Given the description of an element on the screen output the (x, y) to click on. 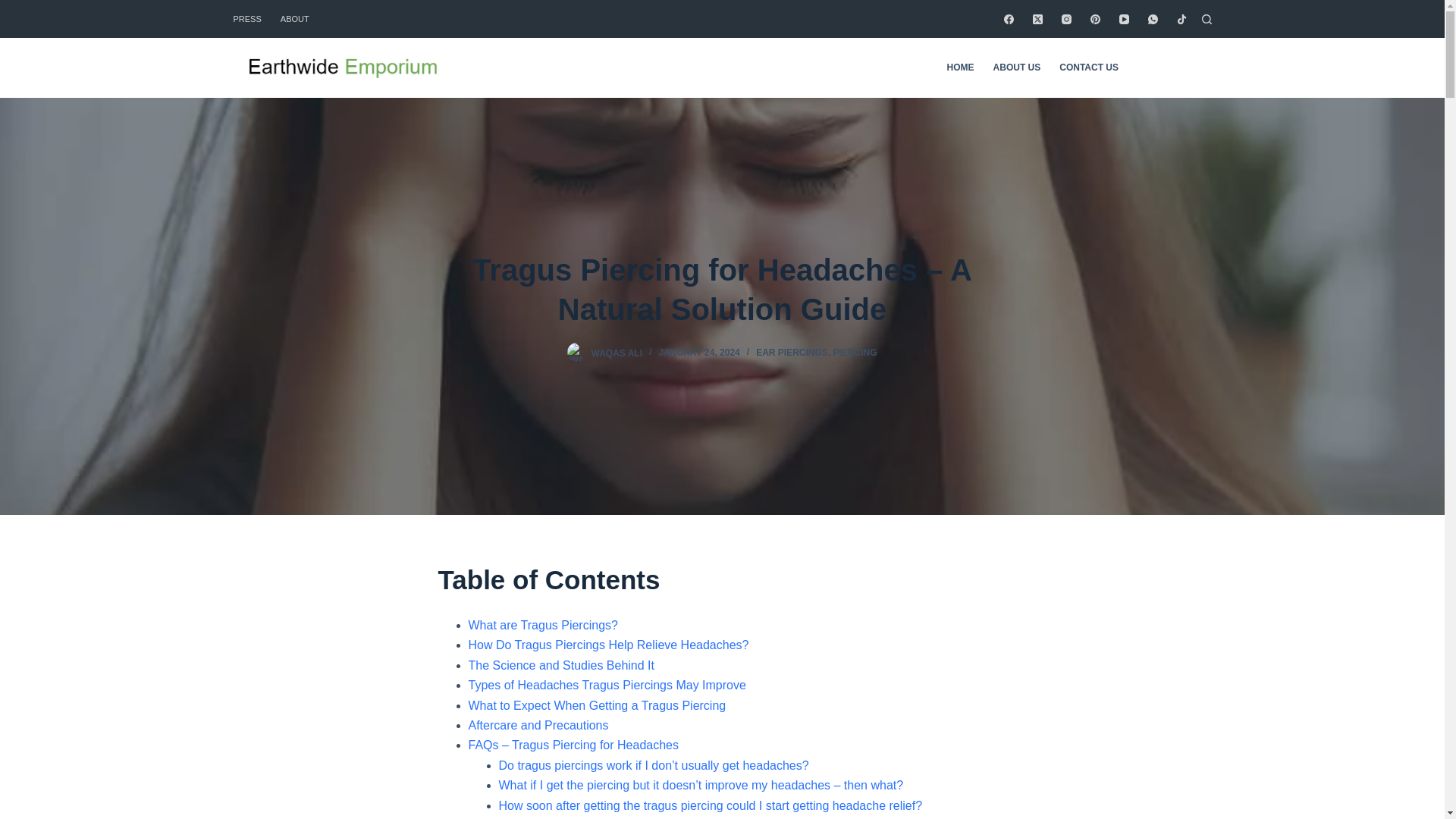
PIERCING (854, 352)
What are Tragus Piercings? (542, 625)
Types of Headaches Tragus Piercings May Improve (606, 684)
Posts by Waqas Ali (616, 352)
ABOUT (289, 18)
EAR PIERCINGS (791, 352)
The Science and Studies Behind It (561, 665)
WAQAS ALI (616, 352)
How Do Tragus Piercings Help Relieve Headaches? (608, 644)
Skip to content (15, 7)
